Given the description of an element on the screen output the (x, y) to click on. 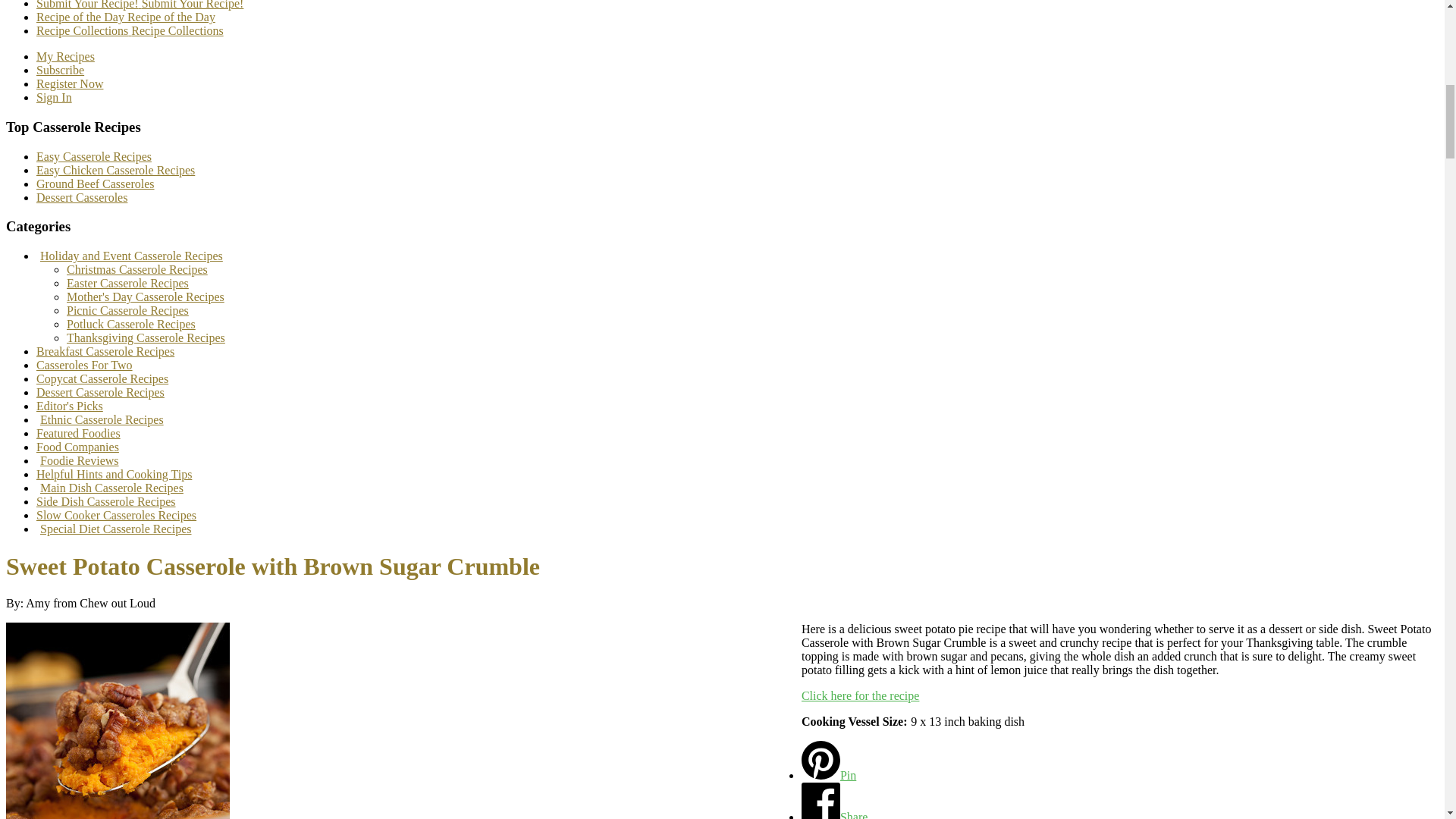
Sweet Potato Casserole with Brown Sugar Crumble (117, 720)
Sign In (53, 97)
Subscribe (60, 69)
Register Now (69, 83)
Facebook (834, 814)
My Recipes (65, 56)
